Given the description of an element on the screen output the (x, y) to click on. 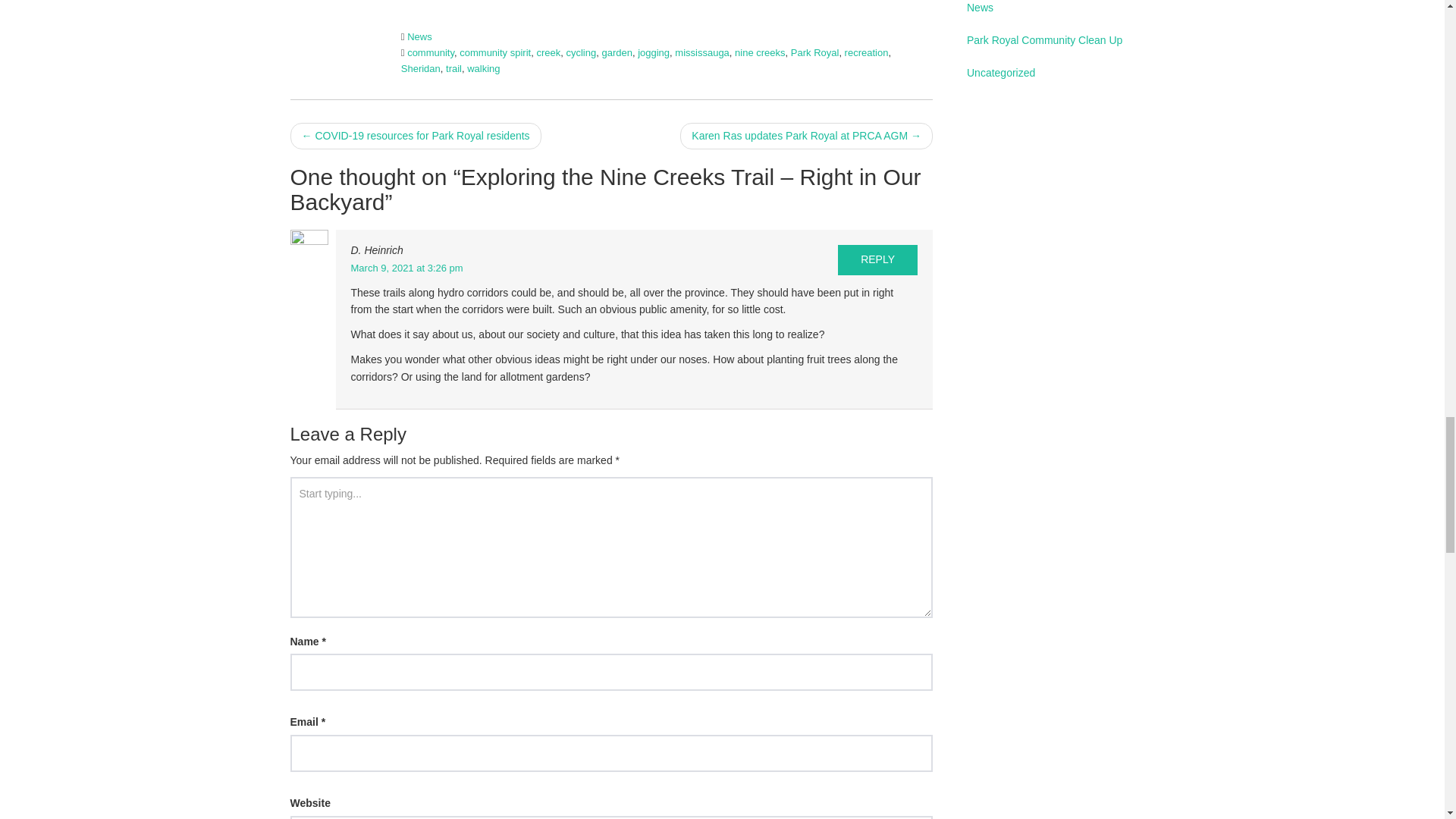
mississauga (702, 52)
REPLY (877, 259)
trail (453, 68)
recreation (866, 52)
walking (483, 68)
community spirit (495, 52)
garden (616, 52)
March 9, 2021 at 3:26 pm (406, 267)
Park Royal (815, 52)
community (430, 52)
News (419, 36)
creek (547, 52)
jogging (653, 52)
Sheridan (421, 68)
cycling (580, 52)
